Given the description of an element on the screen output the (x, y) to click on. 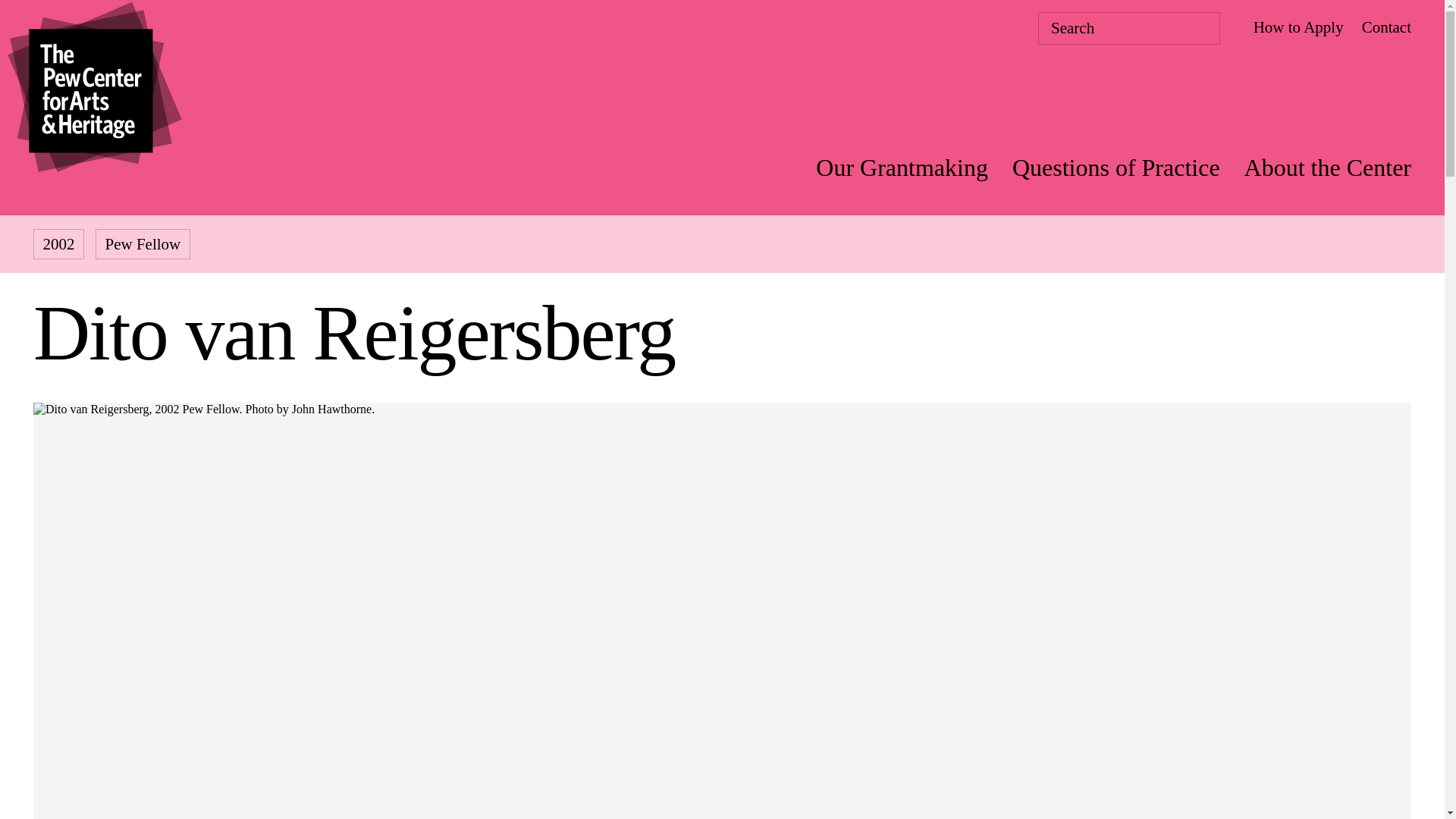
Pew Fellow (143, 244)
About the Center (1327, 166)
2002 (58, 244)
About the Center (1327, 166)
Our Grantmaking (901, 166)
Questions of Practice (1115, 166)
Contact (1385, 27)
How to Apply (1298, 27)
Our Grantmaking (901, 166)
Questions of Practice (1115, 166)
